Given the description of an element on the screen output the (x, y) to click on. 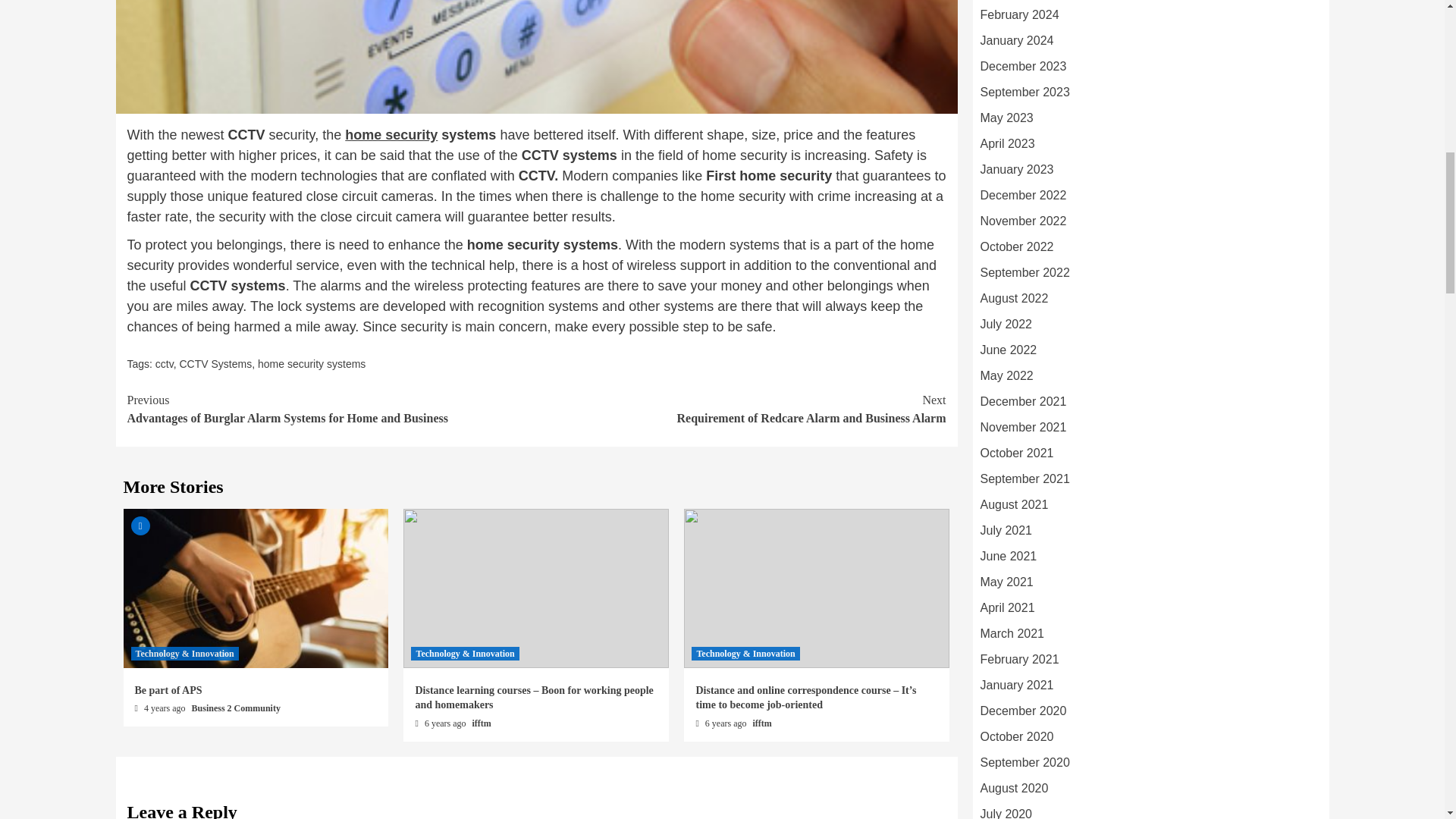
cctv (164, 363)
CCTV Systems (215, 363)
ifftm (481, 723)
ifftm (761, 723)
home security (391, 134)
Be part of APS (168, 690)
Business 2 Community (236, 707)
home security systems (311, 363)
Physical security (391, 134)
